Given the description of an element on the screen output the (x, y) to click on. 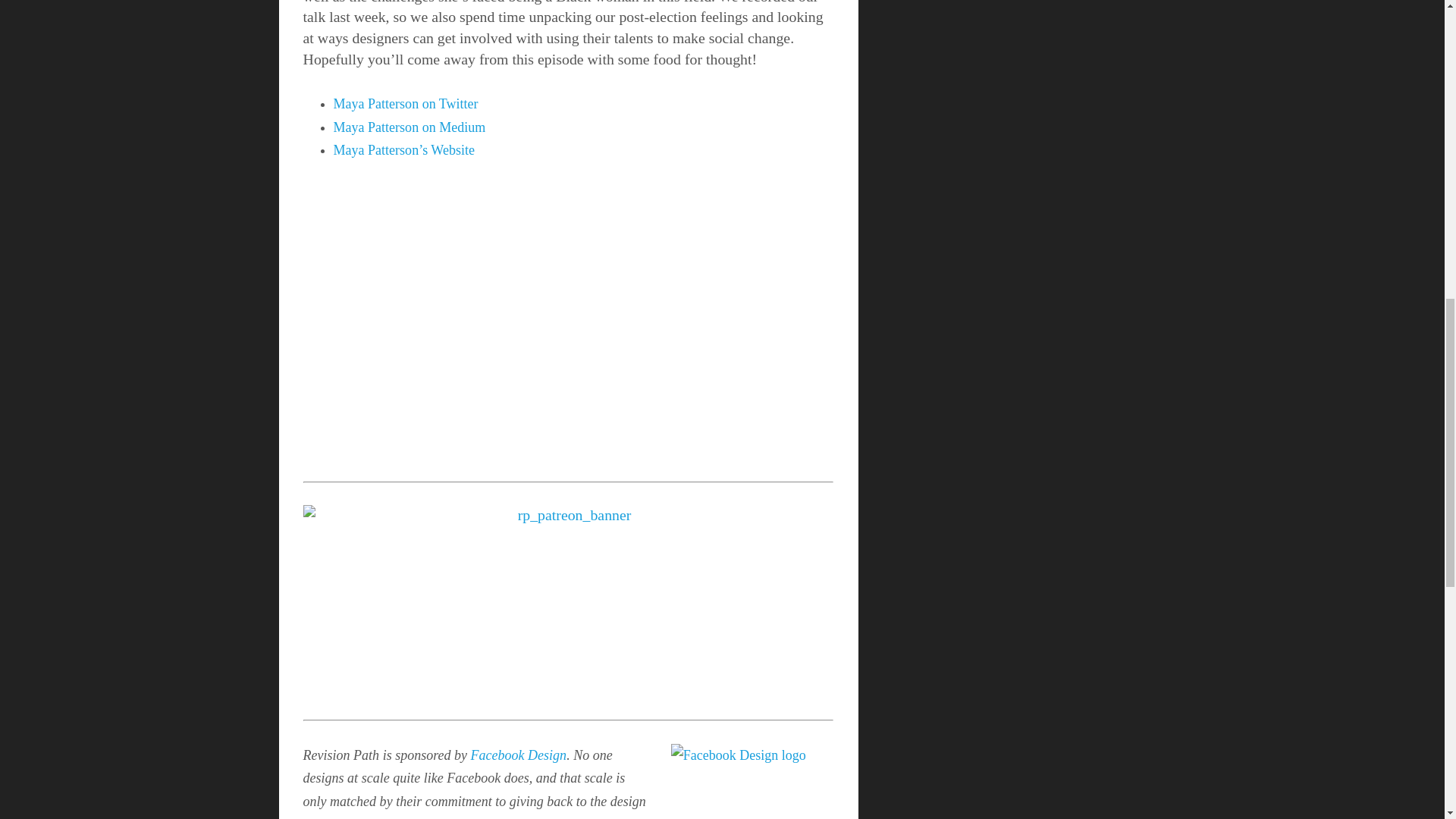
Maya Patterson on Medium (409, 127)
Facebook Design (518, 754)
Maya Patterson on Twitter (406, 103)
